Given the description of an element on the screen output the (x, y) to click on. 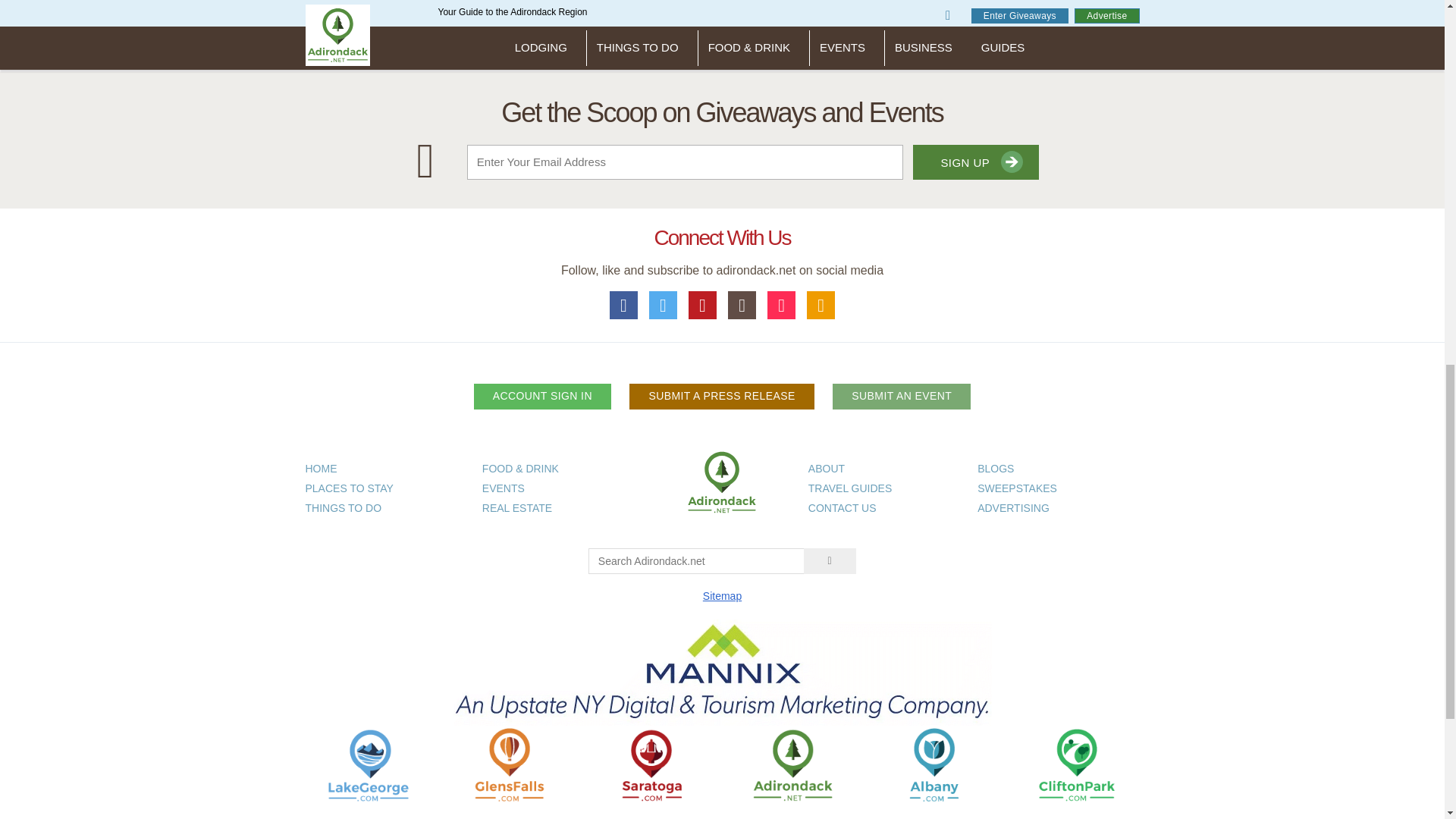
Opens in a new window (368, 764)
Opens in a new window (651, 764)
Opens in a new window (933, 764)
Opens in a new window (509, 764)
My Planner (820, 304)
TikTok (781, 304)
Facebook (624, 304)
Pinterest (702, 304)
X (663, 304)
Opens in a new window (1075, 764)
Instagram (742, 304)
